Given the description of an element on the screen output the (x, y) to click on. 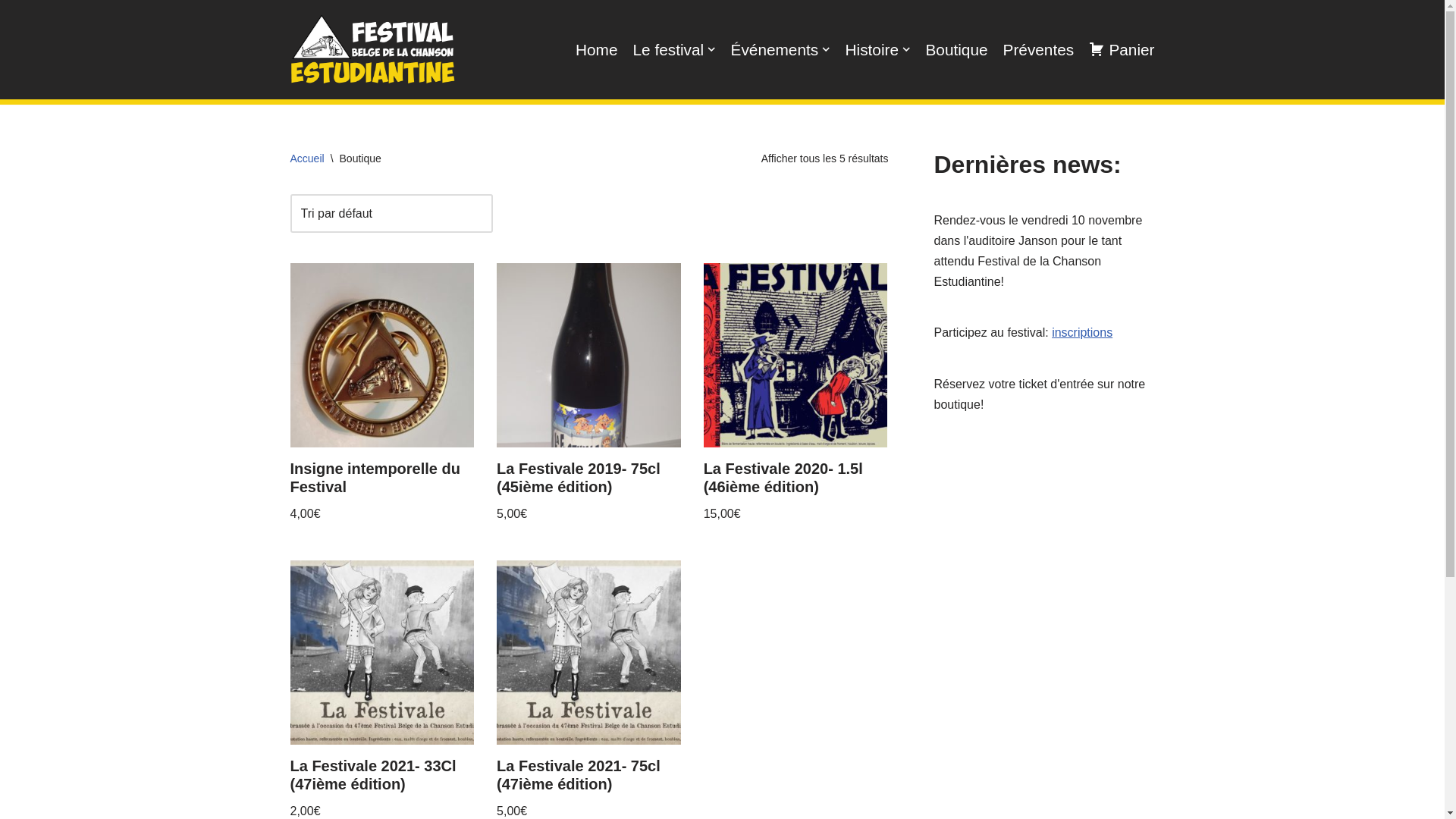
Panier Element type: text (1121, 49)
Accueil Element type: text (306, 158)
Aller au contenu Element type: text (11, 31)
Histoire Element type: text (877, 49)
inscriptions Element type: text (1081, 332)
Home Element type: text (596, 49)
Le festival Element type: text (674, 49)
Festival Belge de la Chanson Estudiantine Element type: hover (371, 49)
Boutique Element type: text (956, 49)
